Given the description of an element on the screen output the (x, y) to click on. 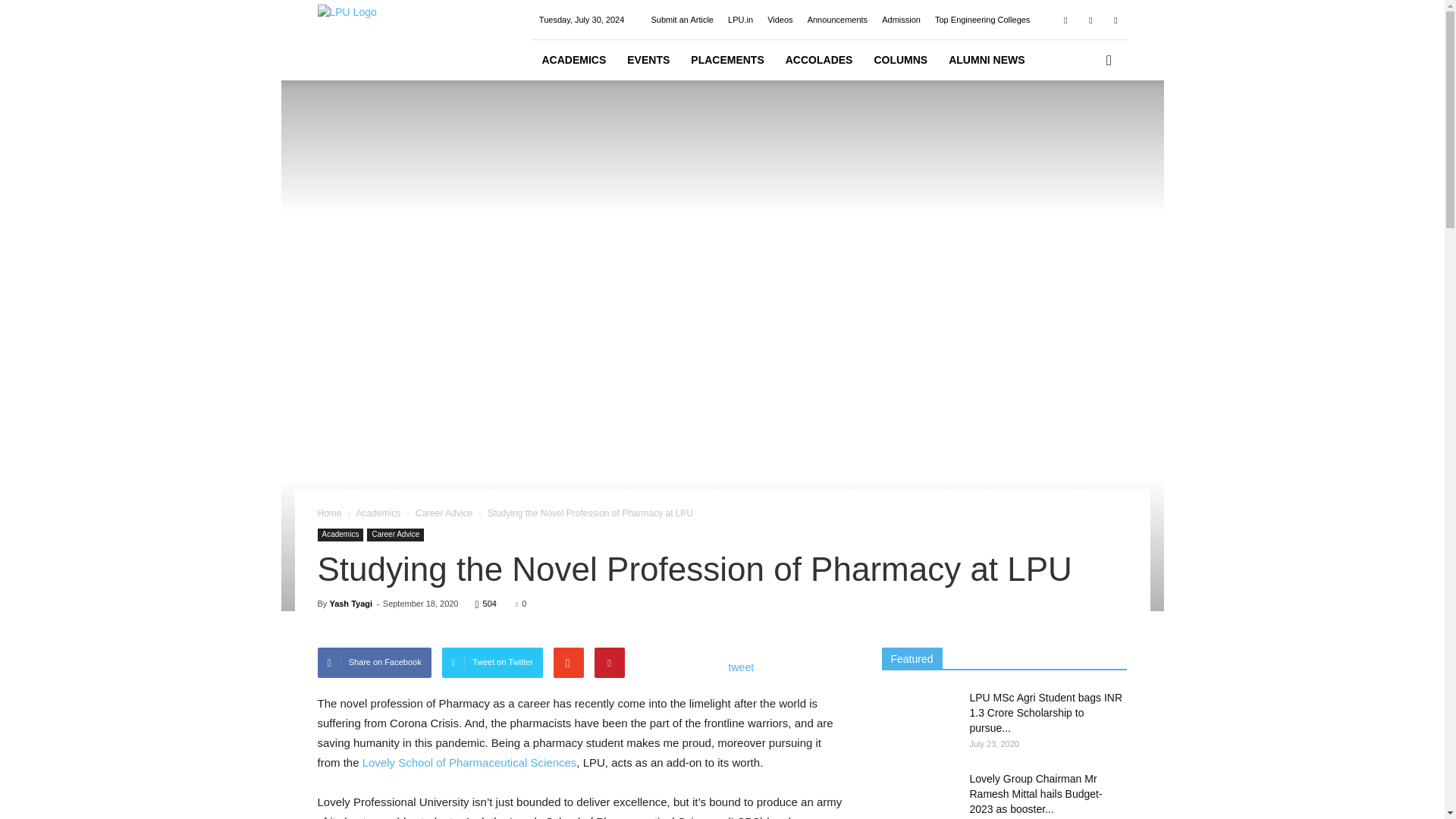
Twitter (1090, 19)
Submit an Article (681, 19)
Announcements (837, 19)
View all posts in Career Advice (442, 512)
View all posts in Academics (377, 512)
Videos (779, 19)
LPU.in (740, 19)
Youtube (1114, 19)
Facebook (1065, 19)
Admission (901, 19)
